Given the description of an element on the screen output the (x, y) to click on. 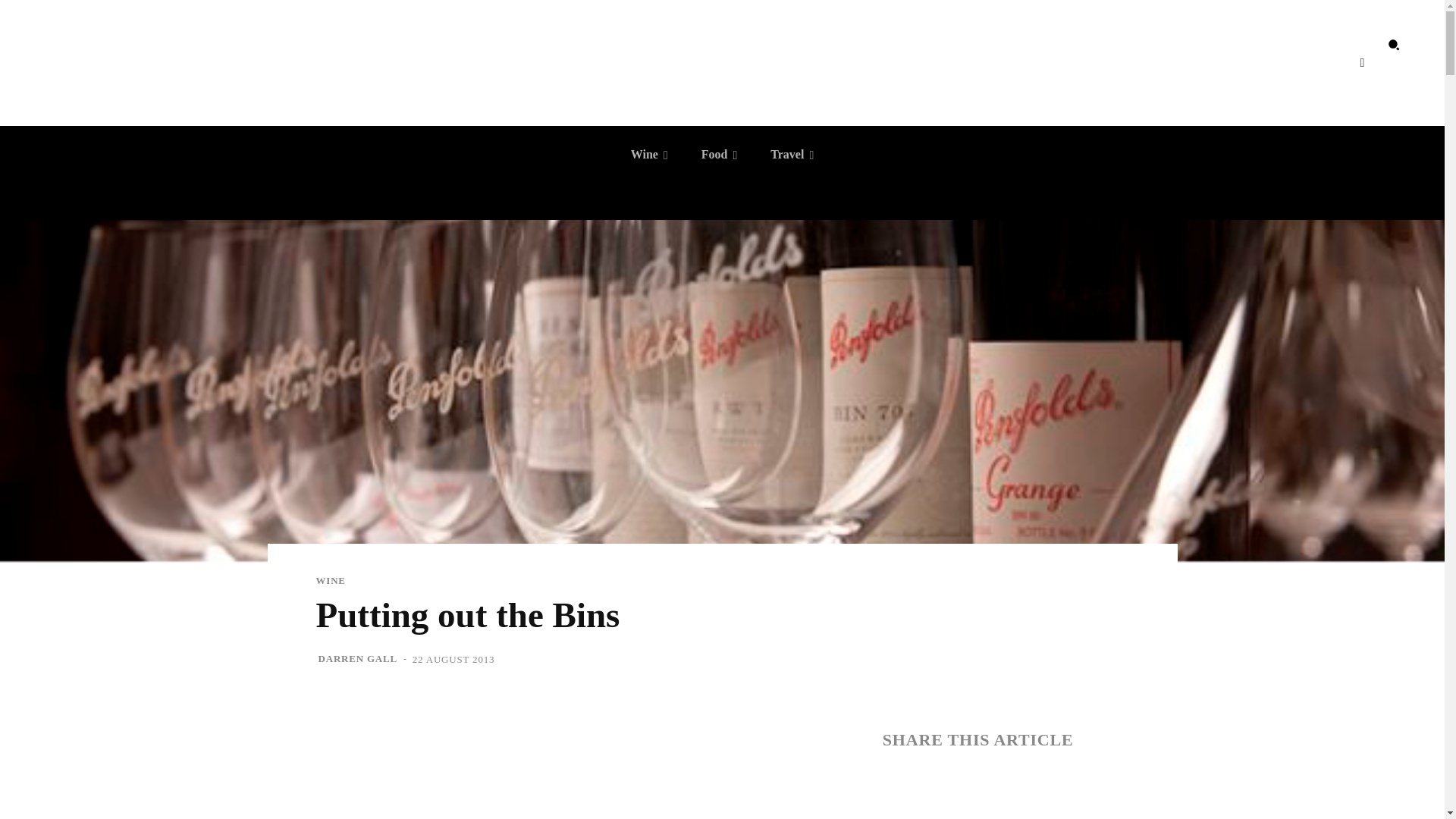
Food (719, 154)
Vindochine.com - Flavours of the East (722, 44)
Facebook (1362, 62)
Wine (649, 154)
